Given the description of an element on the screen output the (x, y) to click on. 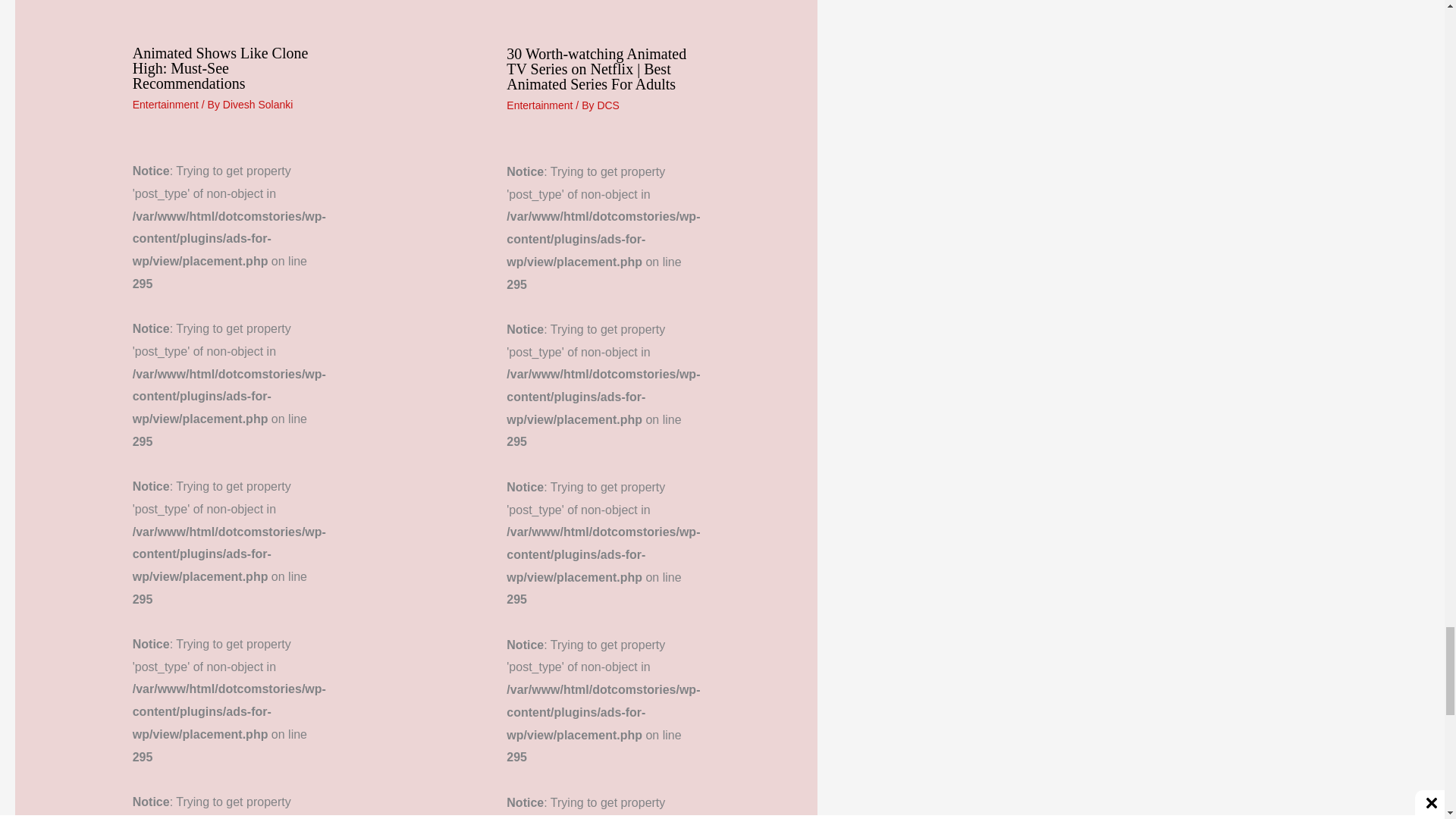
View all posts by DCS (608, 105)
View all posts by Divesh Solanki (258, 104)
